Given the description of an element on the screen output the (x, y) to click on. 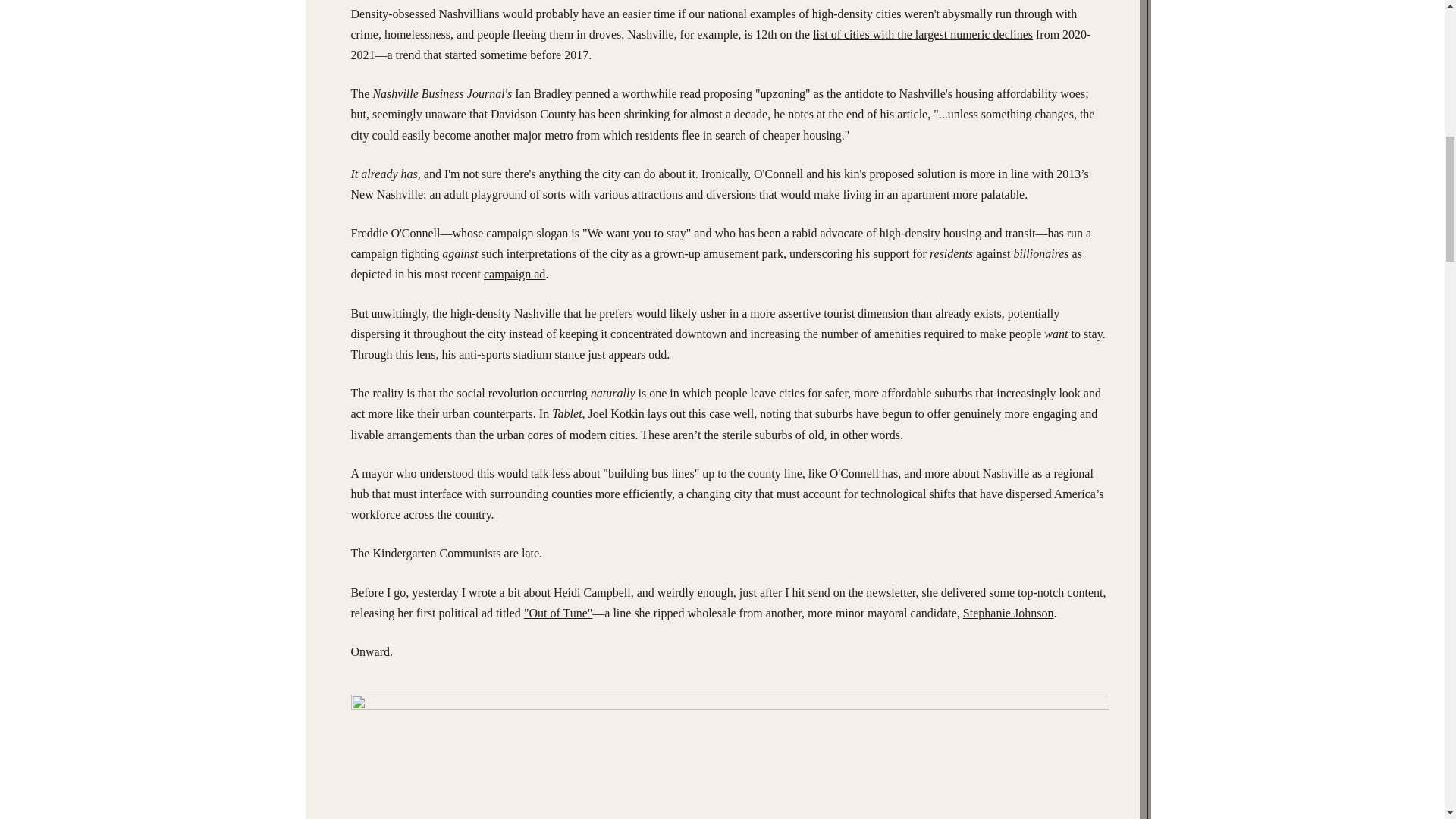
list of cities with the largest numeric declines (922, 33)
"Out of Tune" (558, 612)
lays out this case well (700, 413)
Stephanie Johnson (1008, 612)
worthwhile read (660, 92)
campaign ad (513, 273)
